Given the description of an element on the screen output the (x, y) to click on. 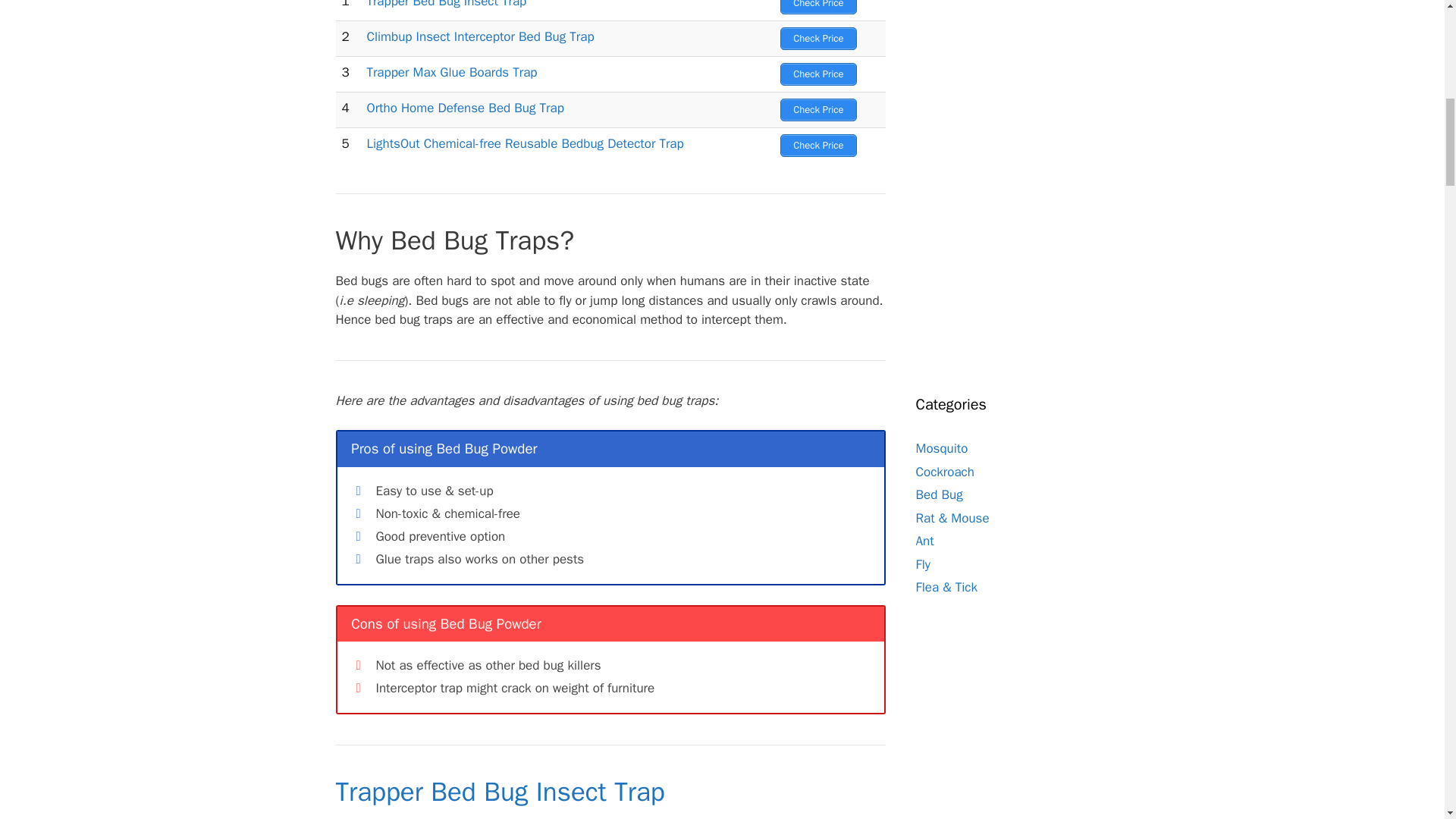
Trapper Bed Bug Insect Trap (445, 4)
Check Price (818, 145)
Check Price (818, 7)
Check Price (818, 74)
Climbup Insect Interceptor Bed Bug Trap (480, 36)
Ortho Home Defense Bed Bug Trap (464, 107)
Trapper Max Glue Boards Trap (451, 72)
Check Price (818, 109)
Check Price (818, 38)
Trapper Bed Bug Insect Trap (498, 791)
LightsOut Chemical-free Reusable Bedbug Detector Trap (524, 143)
